Given the description of an element on the screen output the (x, y) to click on. 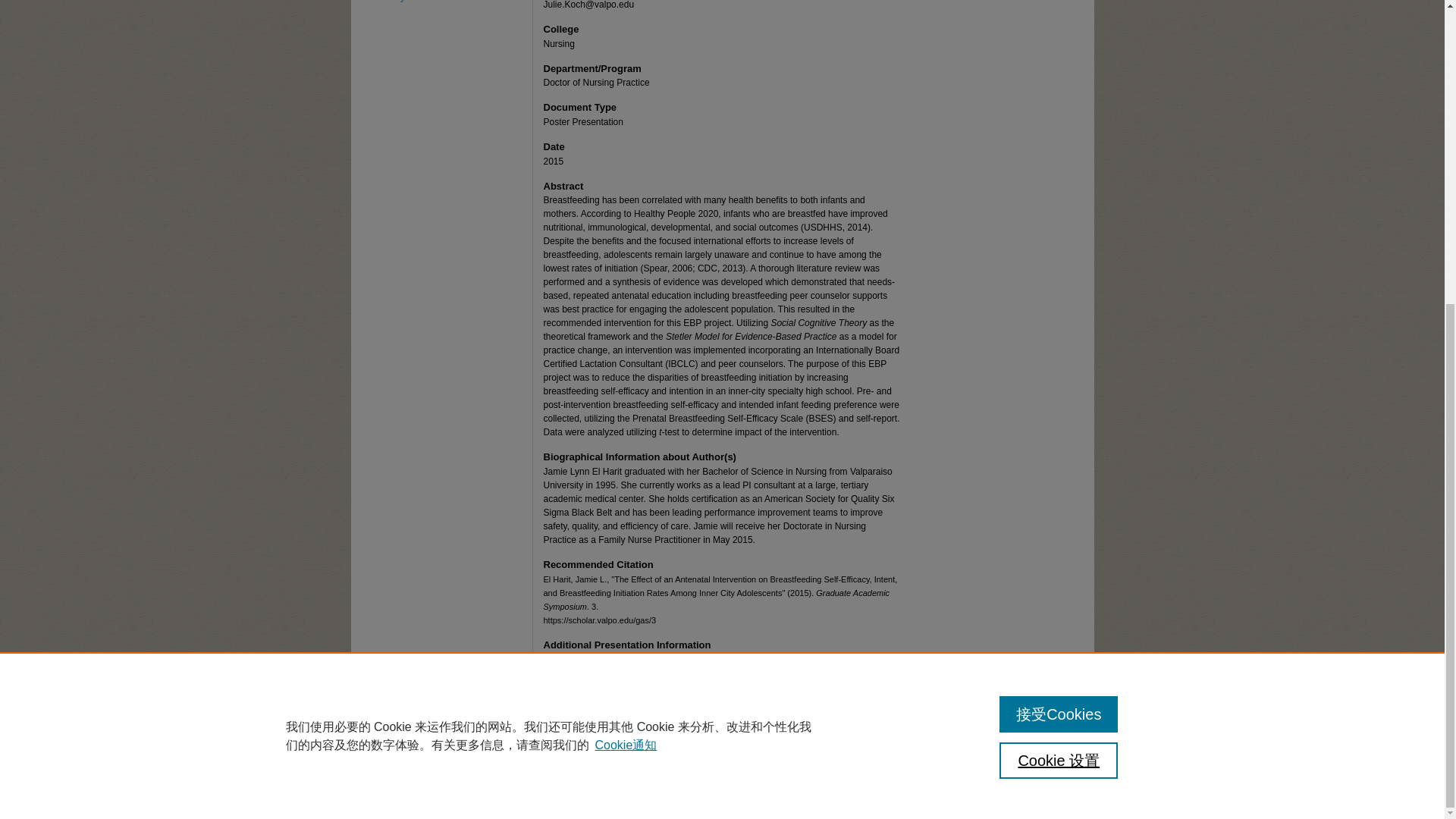
University Archives (447, 1)
